Given the description of an element on the screen output the (x, y) to click on. 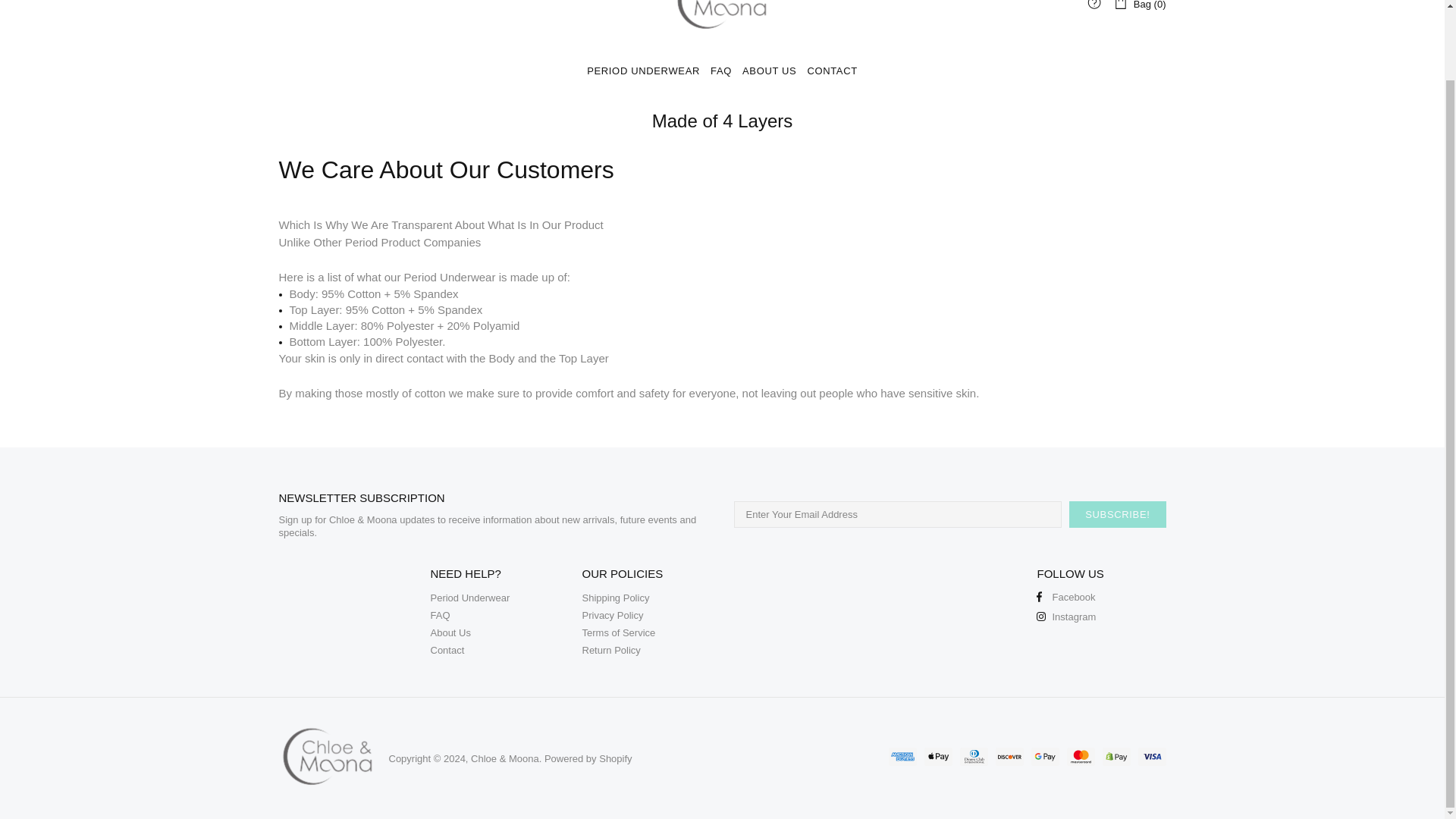
Instagram (1066, 616)
Facebook (1065, 596)
SUBSCRIBE! (1117, 514)
Shipping Policy (615, 597)
Return Policy (611, 649)
About Us (450, 632)
Period Underwear (470, 597)
Powered by Shopify (587, 757)
Privacy Policy (612, 615)
ABOUT US (769, 71)
FAQ (439, 615)
Terms of Service (619, 632)
Contact (447, 649)
FAQ (720, 71)
PERIOD UNDERWEAR (642, 71)
